Given the description of an element on the screen output the (x, y) to click on. 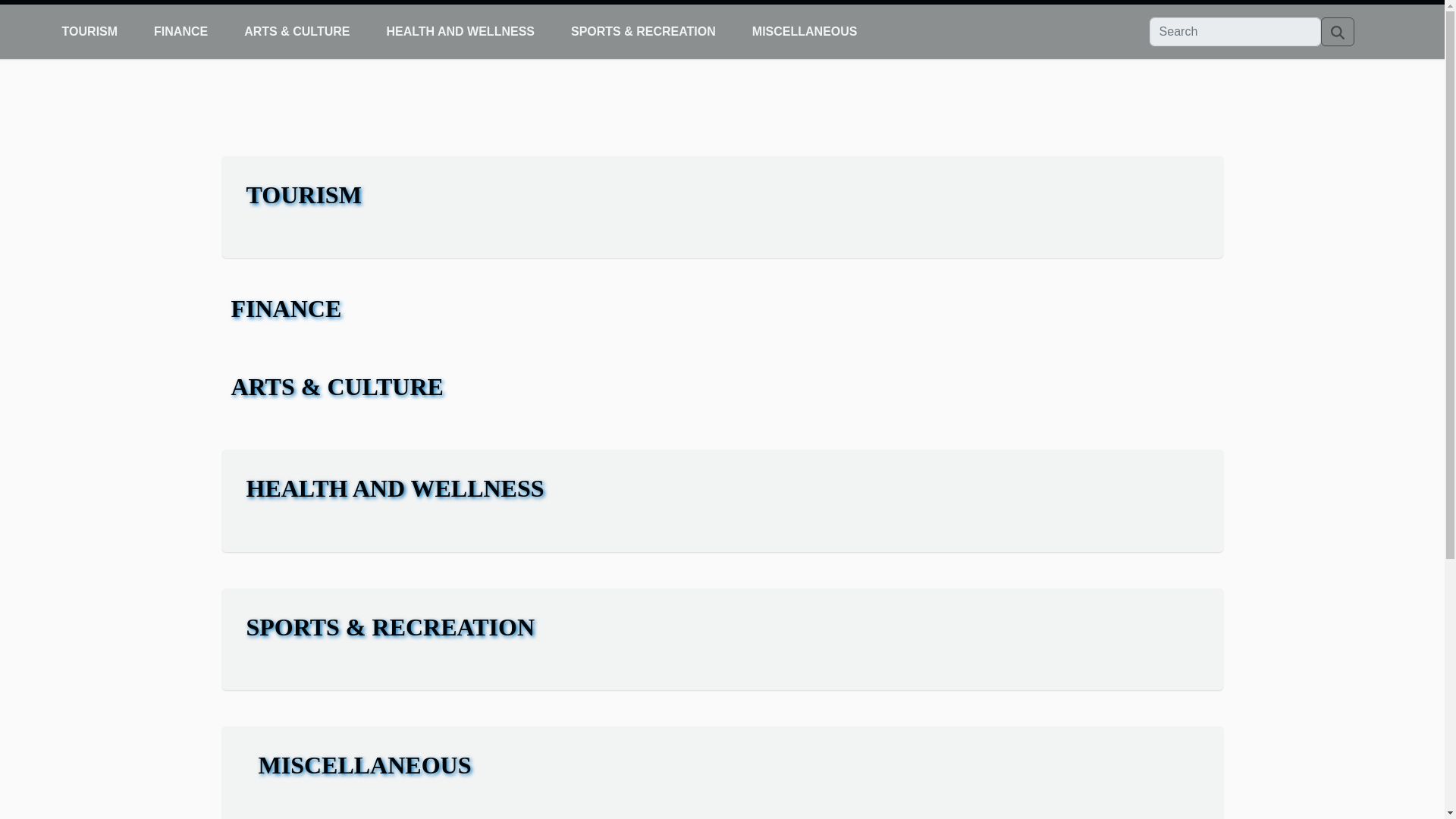
MISCELLANEOUS (804, 31)
HEALTH AND WELLNESS (460, 31)
FINANCE (180, 31)
TOURISM (89, 31)
